Given the description of an element on the screen output the (x, y) to click on. 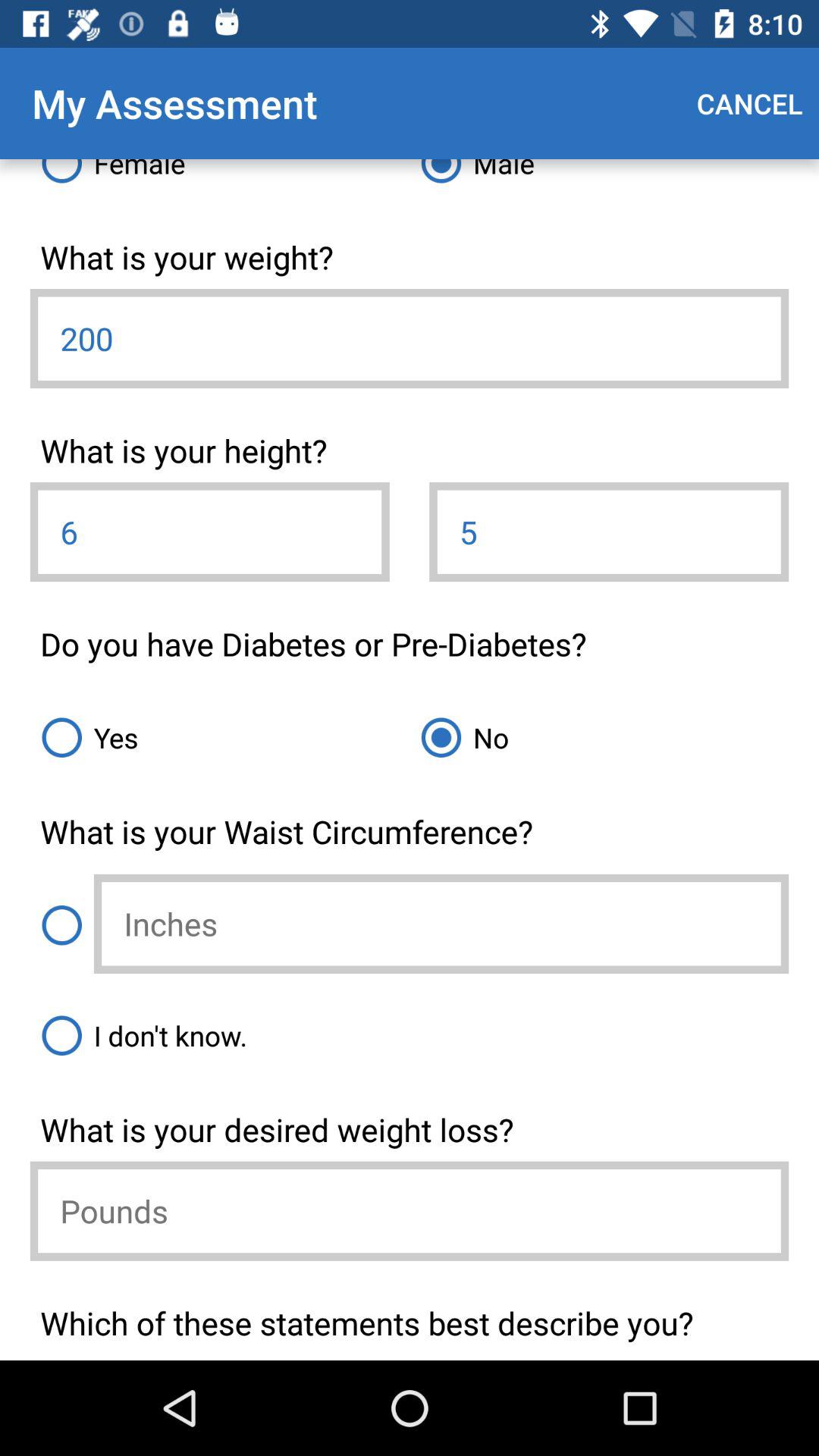
turn on the female item (219, 177)
